Given the description of an element on the screen output the (x, y) to click on. 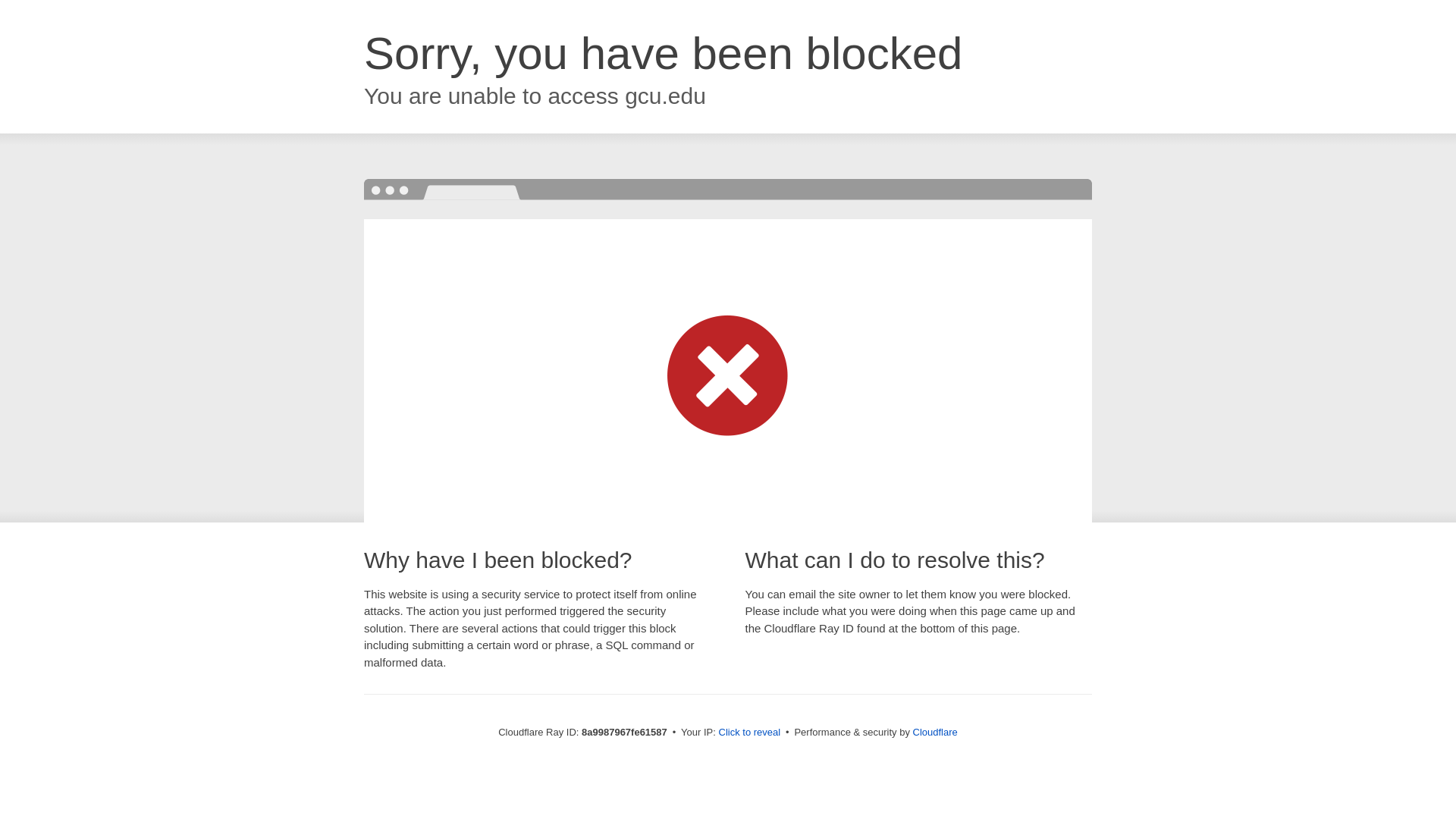
Cloudflare (935, 731)
Click to reveal (749, 732)
